Given the description of an element on the screen output the (x, y) to click on. 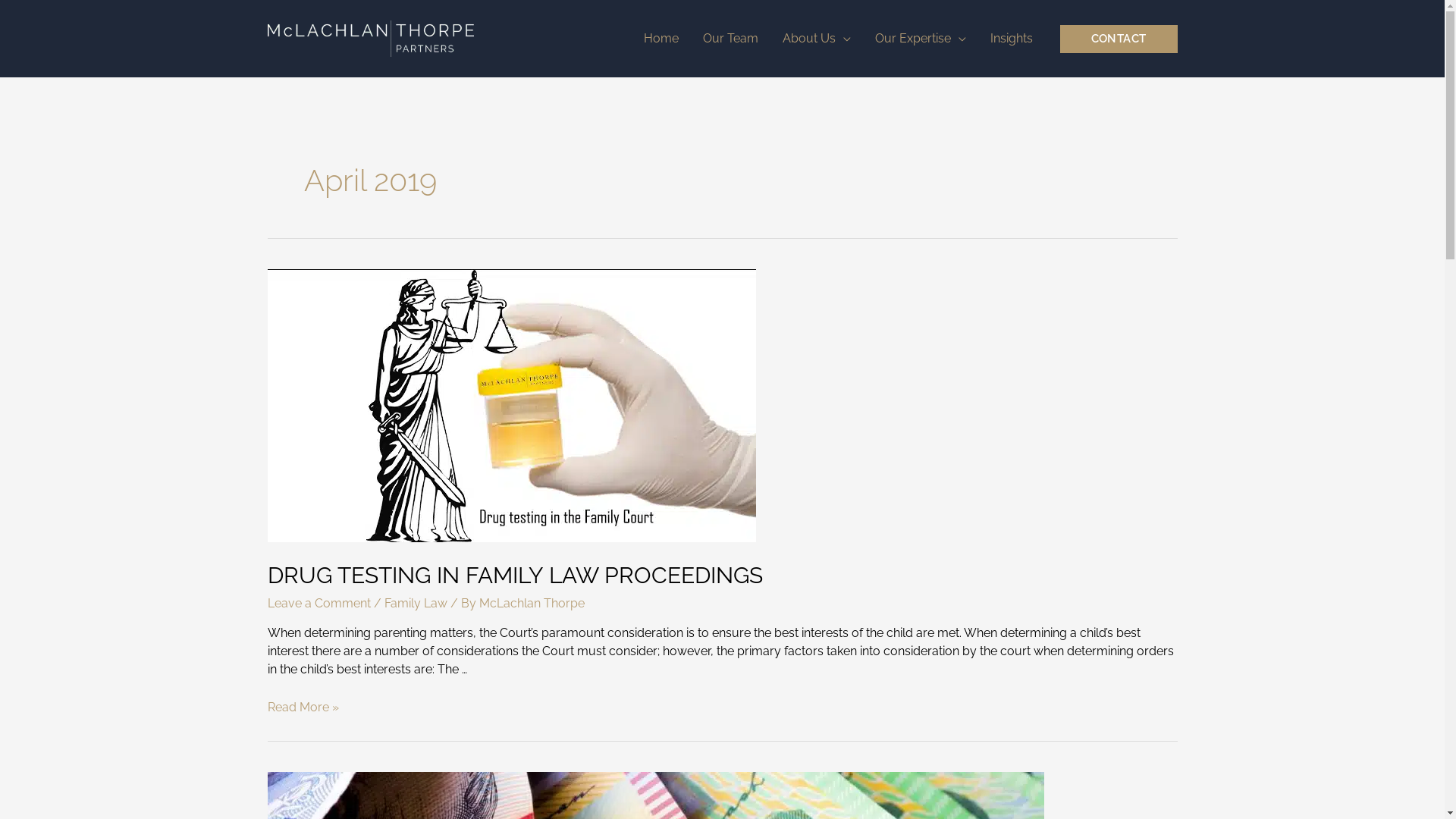
DRUG TESTING IN FAMILY LAW PROCEEDINGS 1 Element type: hover (510, 404)
Leave a Comment Element type: text (318, 603)
Home Element type: text (660, 38)
About Us Element type: text (816, 38)
Insights Element type: text (1011, 38)
CONTACT Element type: text (1118, 38)
McLachlan Thorpe Element type: text (531, 603)
Family Law Element type: text (414, 603)
Our Team Element type: text (730, 38)
Our Expertise Element type: text (920, 38)
DRUG TESTING IN FAMILY LAW PROCEEDINGS Element type: text (514, 574)
